Given the description of an element on the screen output the (x, y) to click on. 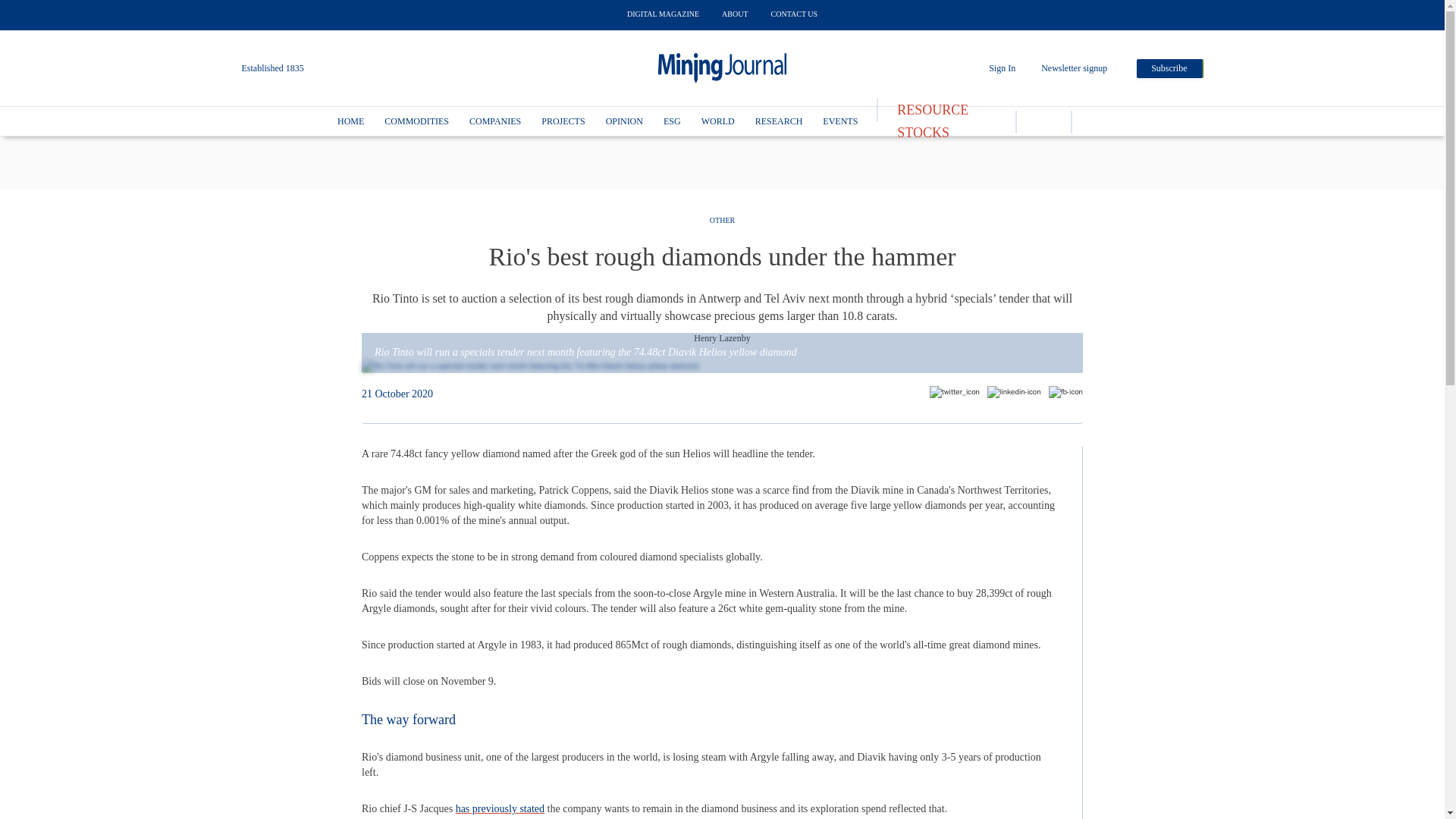
CONTACT US (794, 13)
Home (350, 121)
Projects (563, 121)
HOME (350, 121)
Sign In (1001, 68)
Newsletter signup (1073, 68)
Subscribe (1169, 67)
COMPANIES (494, 121)
ABOUT (735, 13)
OPINION (624, 121)
Companies (494, 121)
Commodities (416, 121)
Opinion (624, 121)
WORLD (718, 121)
DIGITAL MAGAZINE (662, 13)
